Given the description of an element on the screen output the (x, y) to click on. 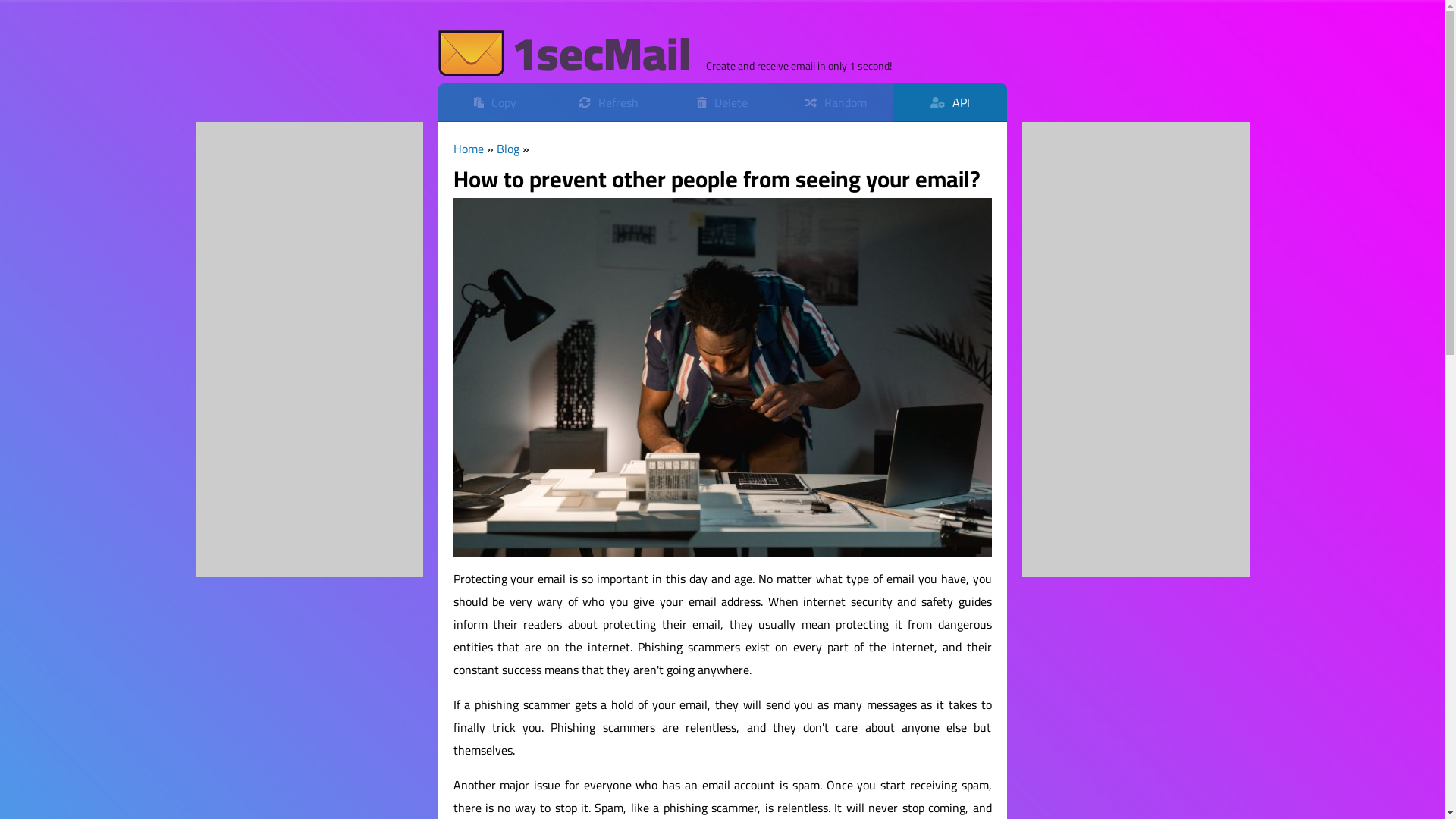
Home Element type: text (468, 148)
Blog Element type: text (506, 148)
1secMail Element type: text (564, 52)
API Element type: text (950, 102)
Advertisement Element type: hover (309, 349)
Copy Element type: text (495, 102)
Delete Element type: text (722, 102)
Refresh Element type: text (608, 102)
Random Element type: text (836, 102)
Advertisement Element type: hover (1135, 349)
